Given the description of an element on the screen output the (x, y) to click on. 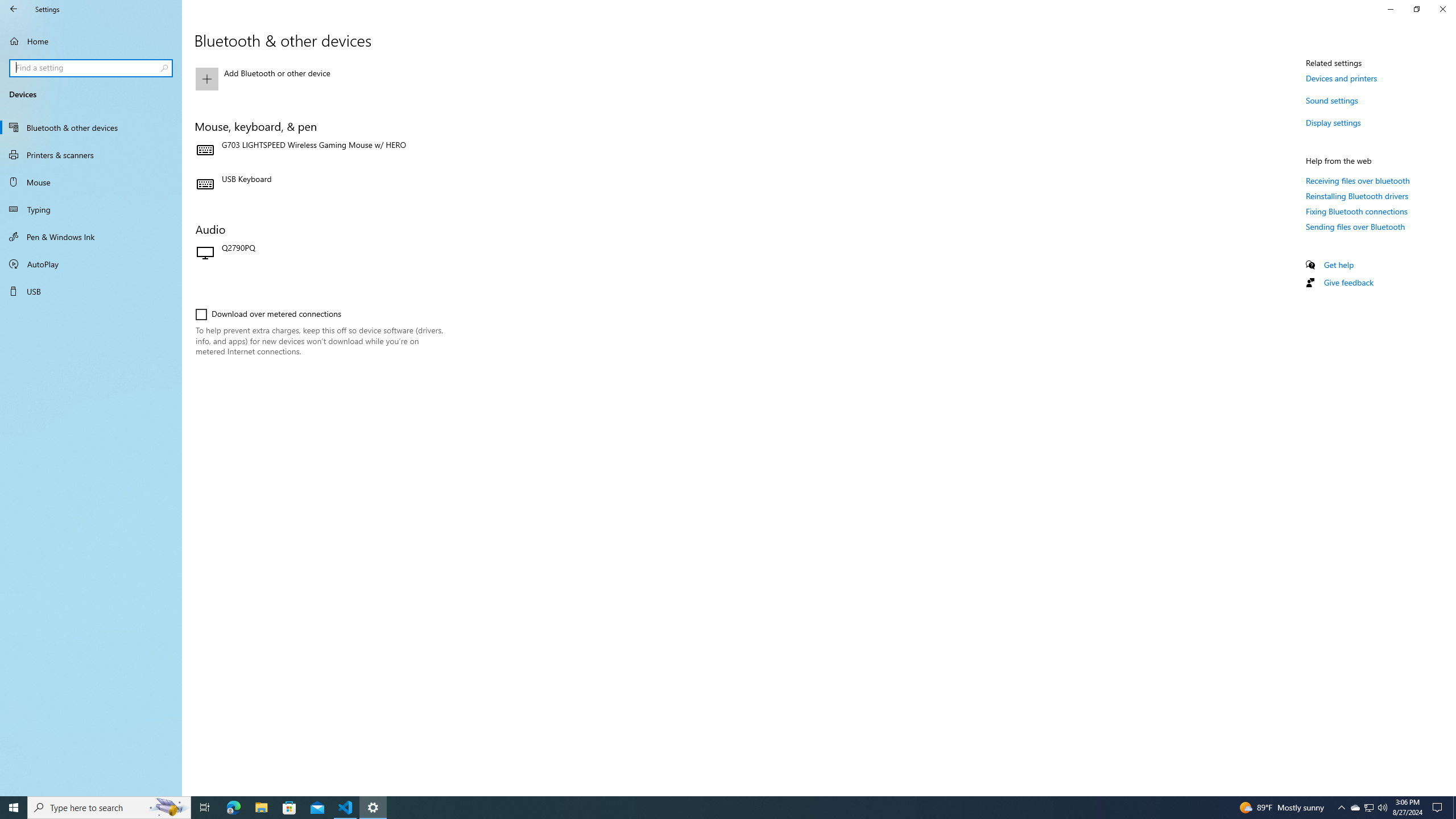
Display settings (1333, 122)
Restore Settings (1416, 9)
Bluetooth & other devices (91, 126)
Fixing Bluetooth connections (1356, 211)
AutoPlay (91, 263)
Search box, Find a setting (91, 67)
Printers & scanners (91, 154)
Sound settings (1332, 100)
